Given the description of an element on the screen output the (x, y) to click on. 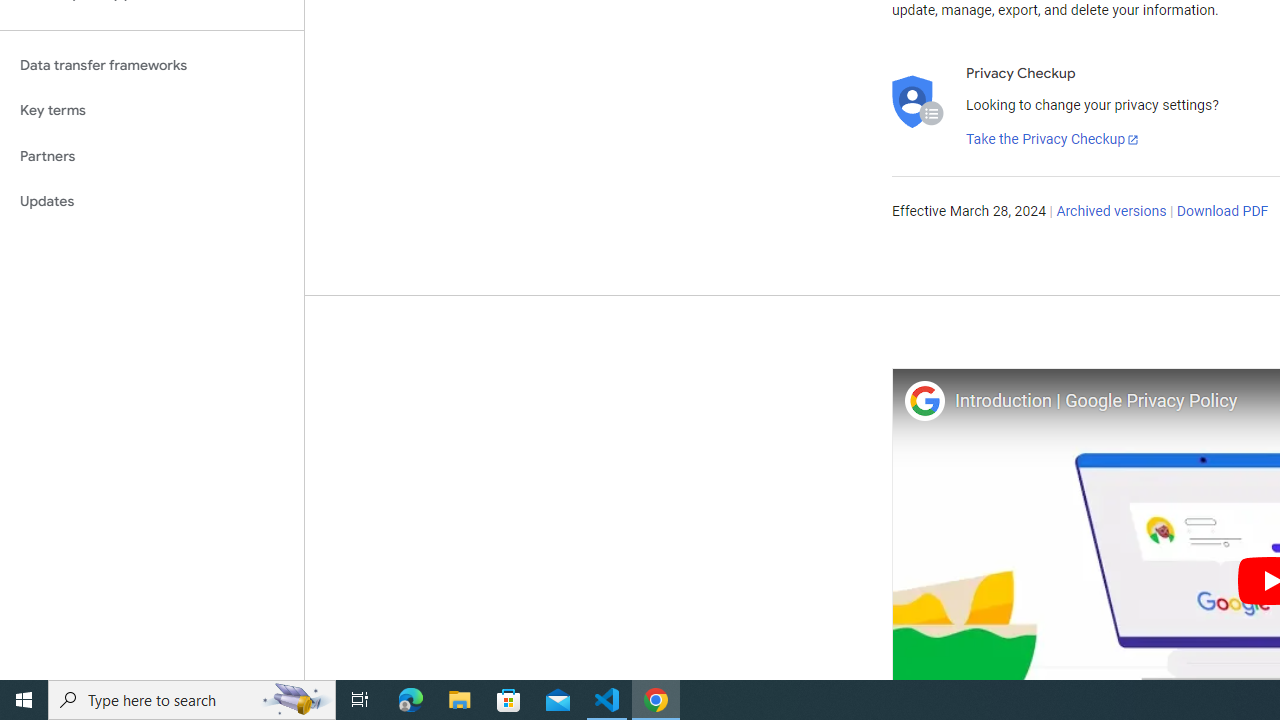
Photo image of Google (924, 400)
Key terms (152, 110)
Updates (152, 201)
Partners (152, 156)
Data transfer frameworks (152, 65)
Archived versions (1111, 212)
Download PDF (1222, 212)
Take the Privacy Checkup (1053, 140)
